Given the description of an element on the screen output the (x, y) to click on. 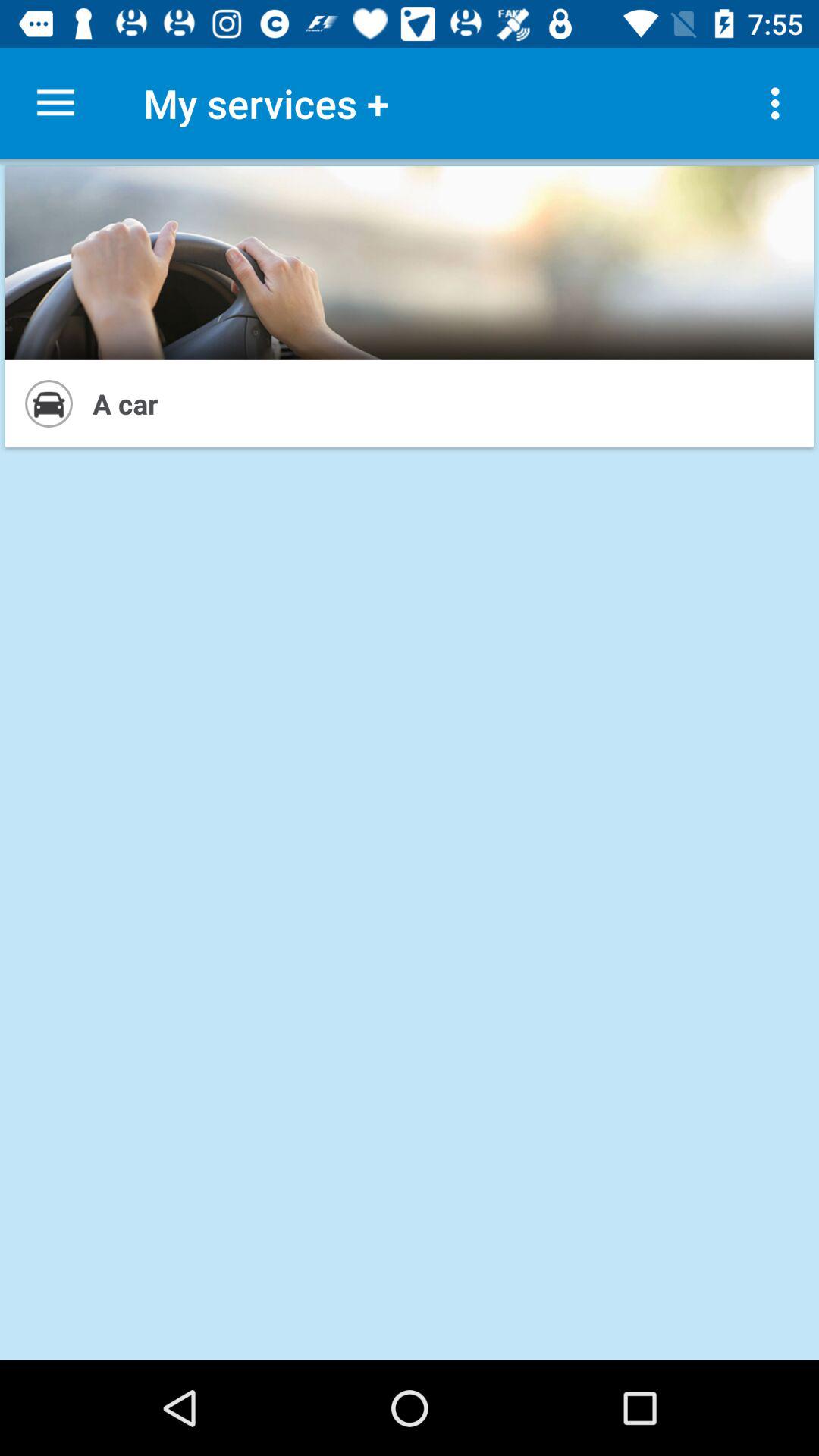
turn off item to the right of the my services + item (779, 103)
